Given the description of an element on the screen output the (x, y) to click on. 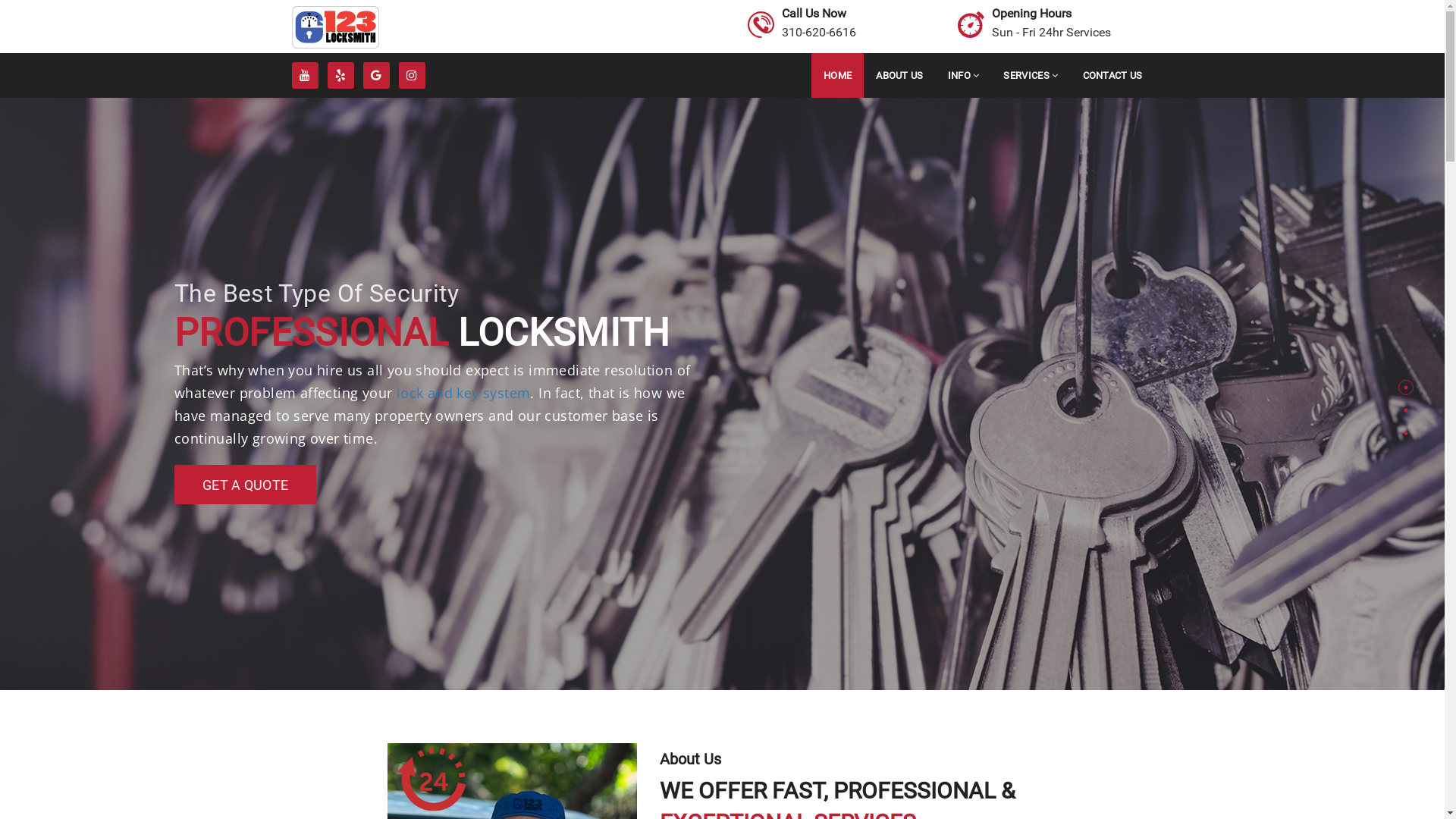
GET A QUOTE Element type: text (1199, 461)
SERVICES Element type: text (1030, 75)
ABOUT US Element type: text (899, 75)
CONTACT US Element type: text (1112, 75)
HOME Element type: text (837, 75)
INFO Element type: text (963, 75)
